Given the description of an element on the screen output the (x, y) to click on. 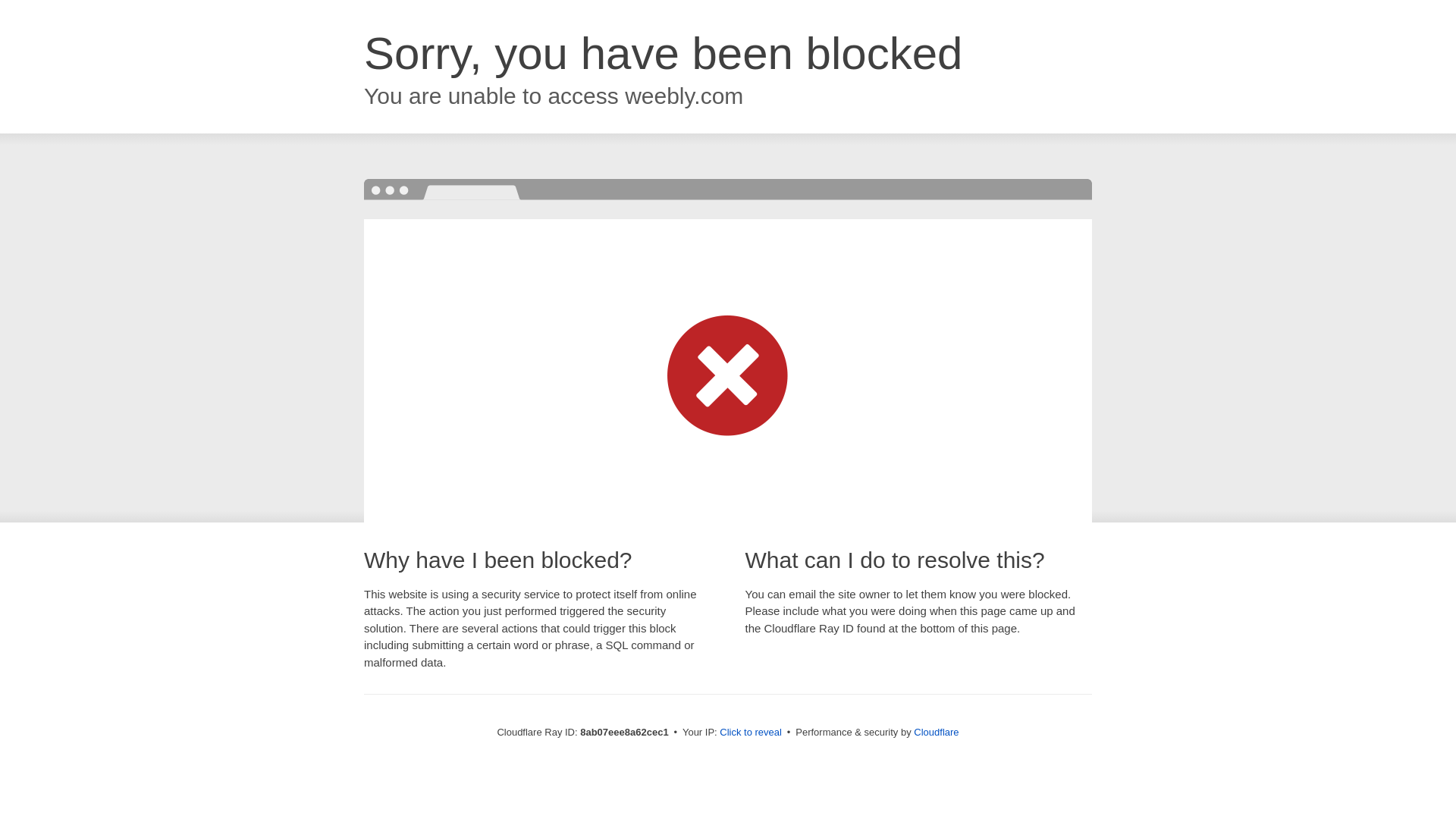
Cloudflare (936, 731)
Click to reveal (750, 732)
